Given the description of an element on the screen output the (x, y) to click on. 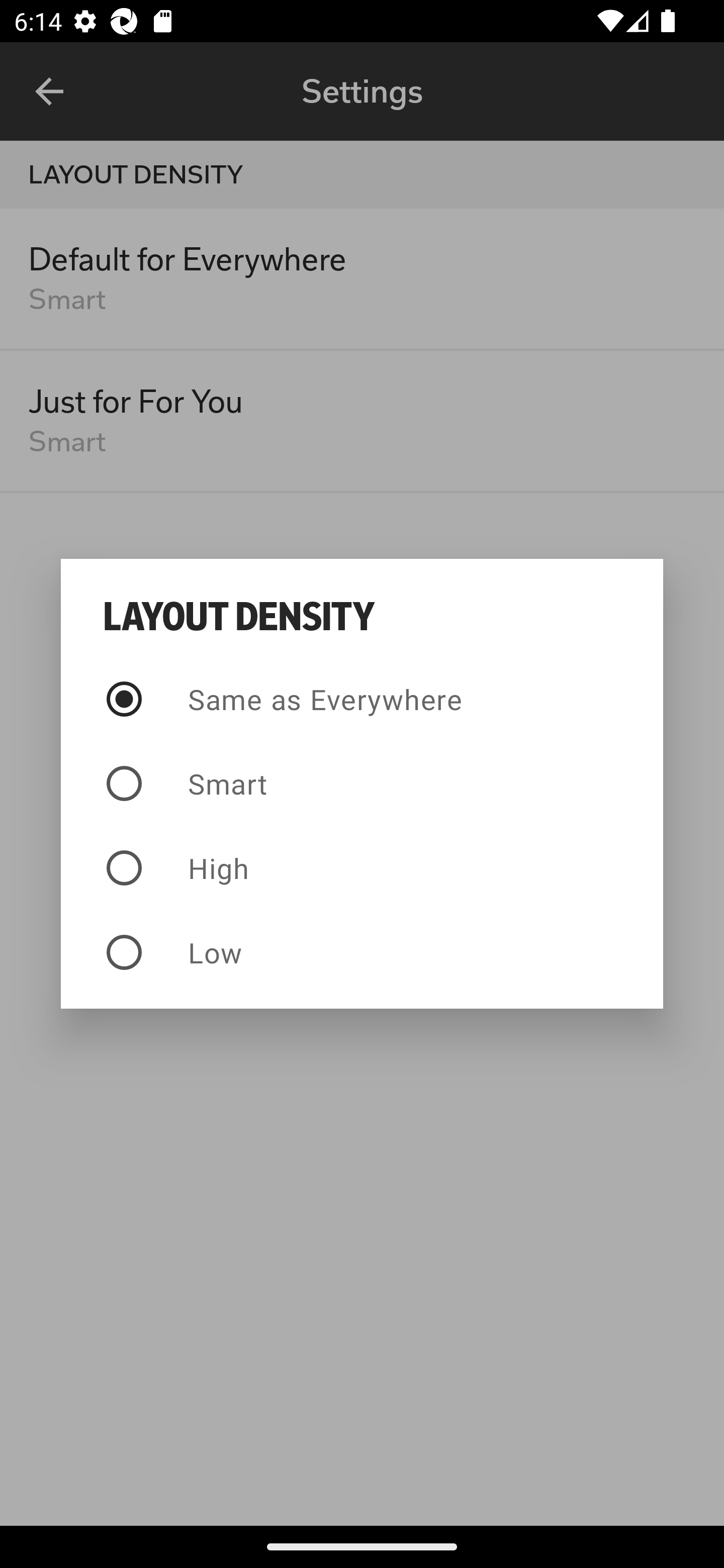
Same as Everywhere (361, 698)
Smart (361, 783)
High (361, 867)
Low (361, 951)
